Given the description of an element on the screen output the (x, y) to click on. 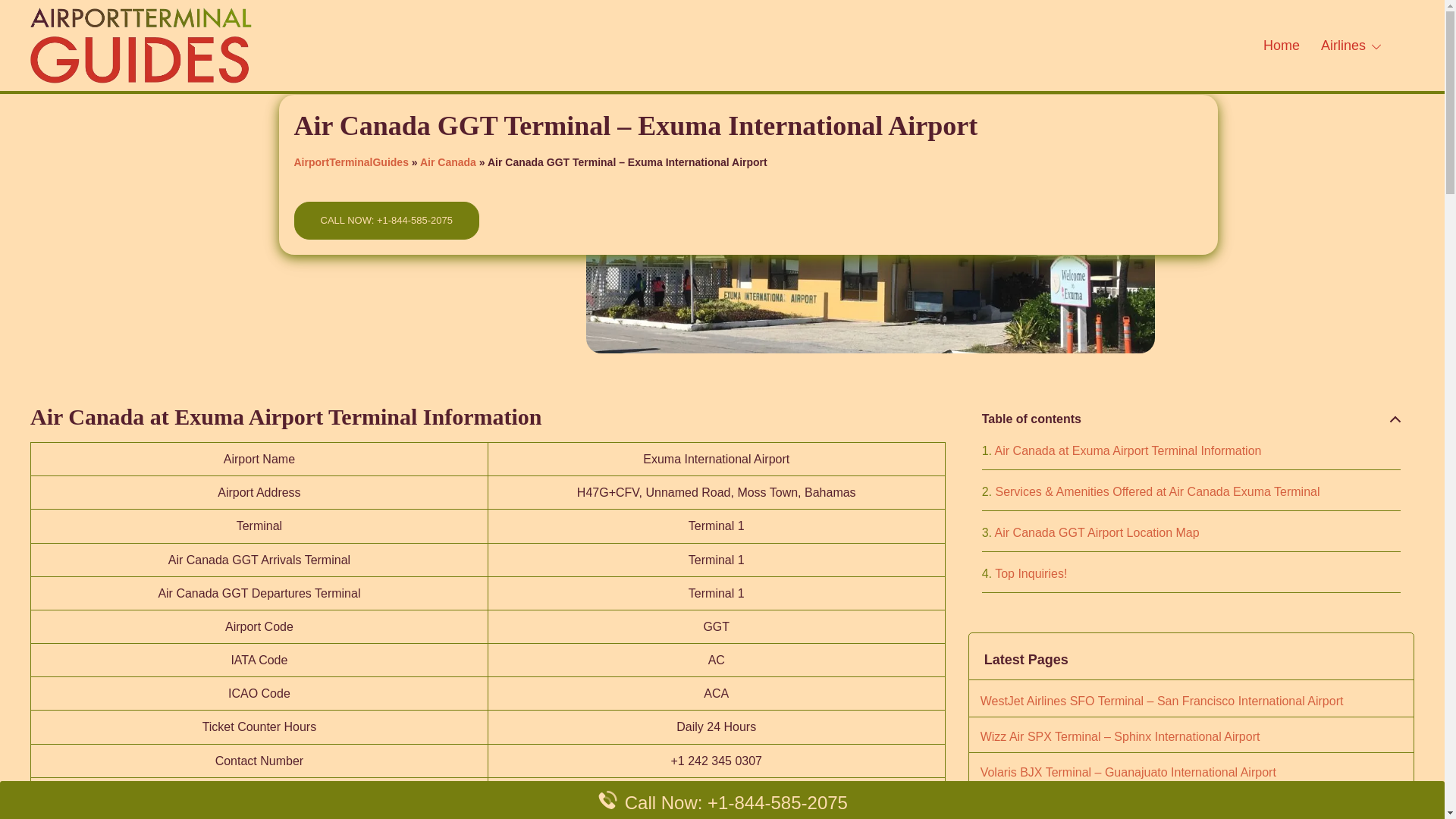
Home (1281, 45)
Top Inquiries! (1024, 573)
AirportTerminalGuides.com (140, 43)
Air Canada at Exuma Airport Terminal Information (1121, 450)
Airlines (1342, 45)
Air Canada GGT Airport Location Map (1090, 532)
